Given the description of an element on the screen output the (x, y) to click on. 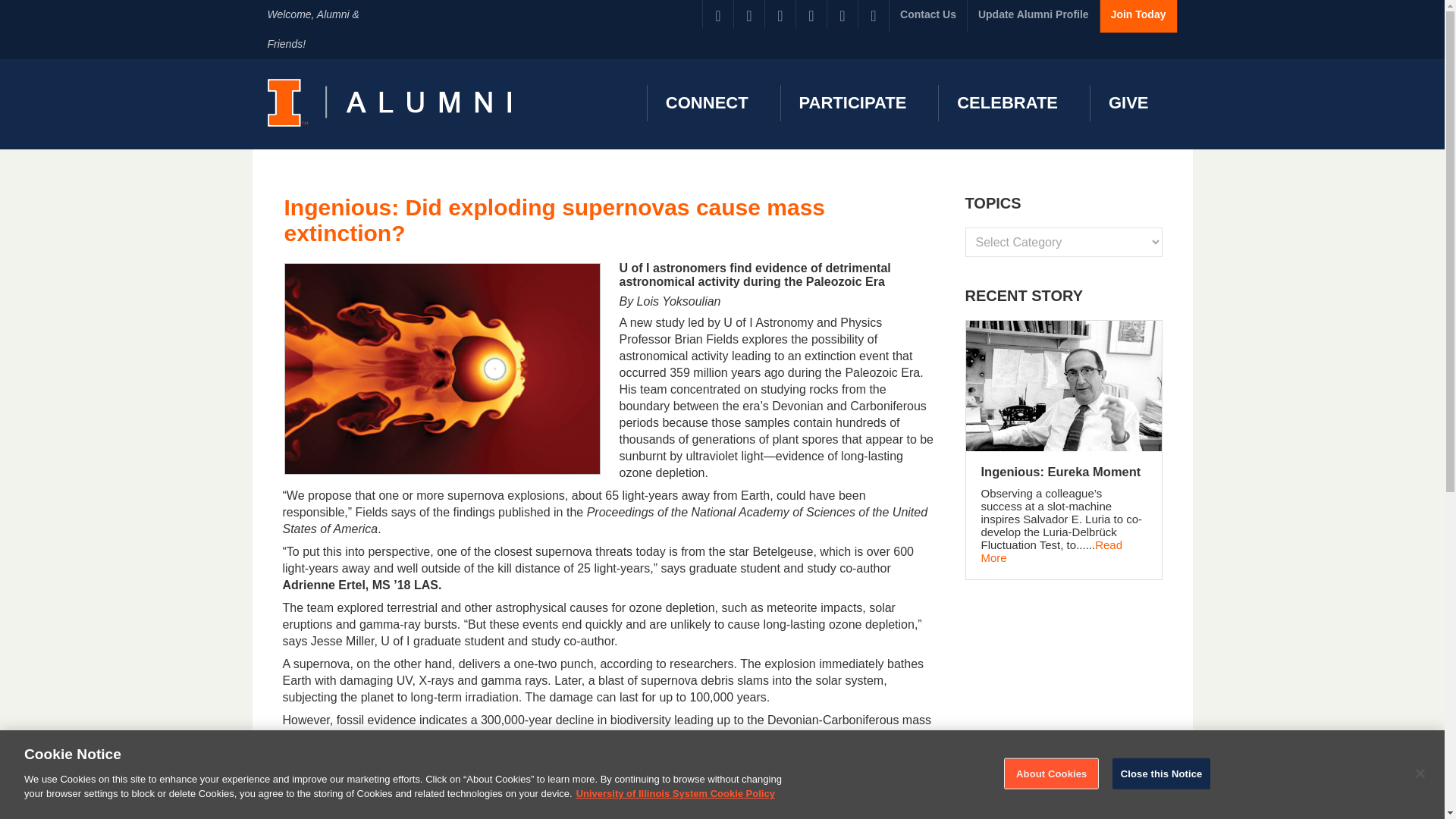
Contact Us (927, 16)
GIVE (1126, 103)
Instagram (842, 14)
CELEBRATE (1004, 103)
Facebook (718, 14)
PARTICIPATE (850, 103)
CONNECT (704, 103)
Linkedin (779, 14)
Flickr (811, 14)
Twitter (748, 14)
Search (22, 8)
Update Alumni Profile (1033, 16)
Join Today (1138, 16)
